Given the description of an element on the screen output the (x, y) to click on. 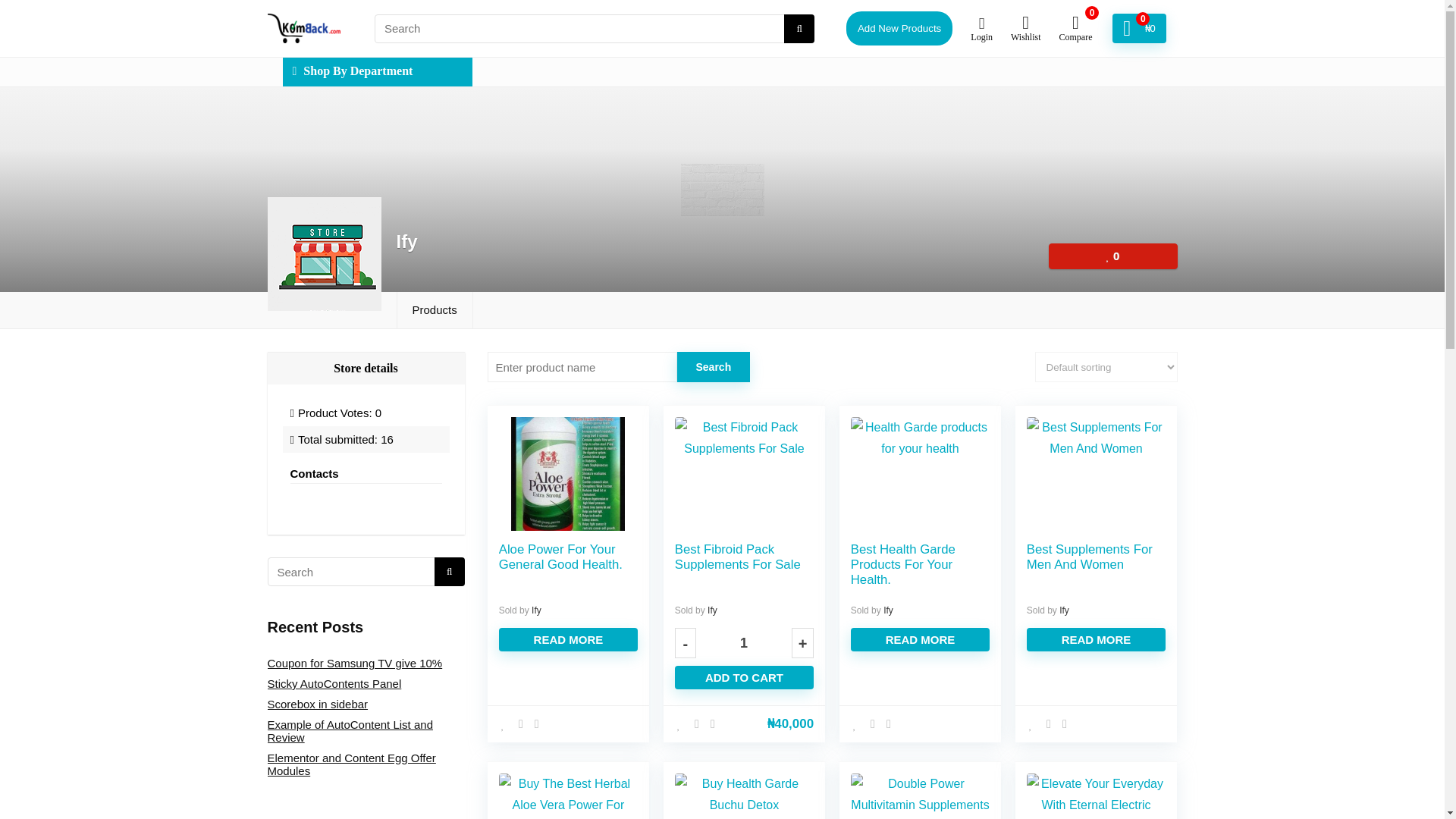
1 (743, 643)
Best Fibroid Pack Supplements For Sale (737, 556)
Aloe Power For Your General Good Health. (561, 556)
Search (713, 367)
Qty (743, 643)
Shop By Department (376, 71)
Ify (536, 610)
Best Supplements For Men And Women (1089, 556)
Add New Products (898, 28)
READ MORE (920, 639)
